Given the description of an element on the screen output the (x, y) to click on. 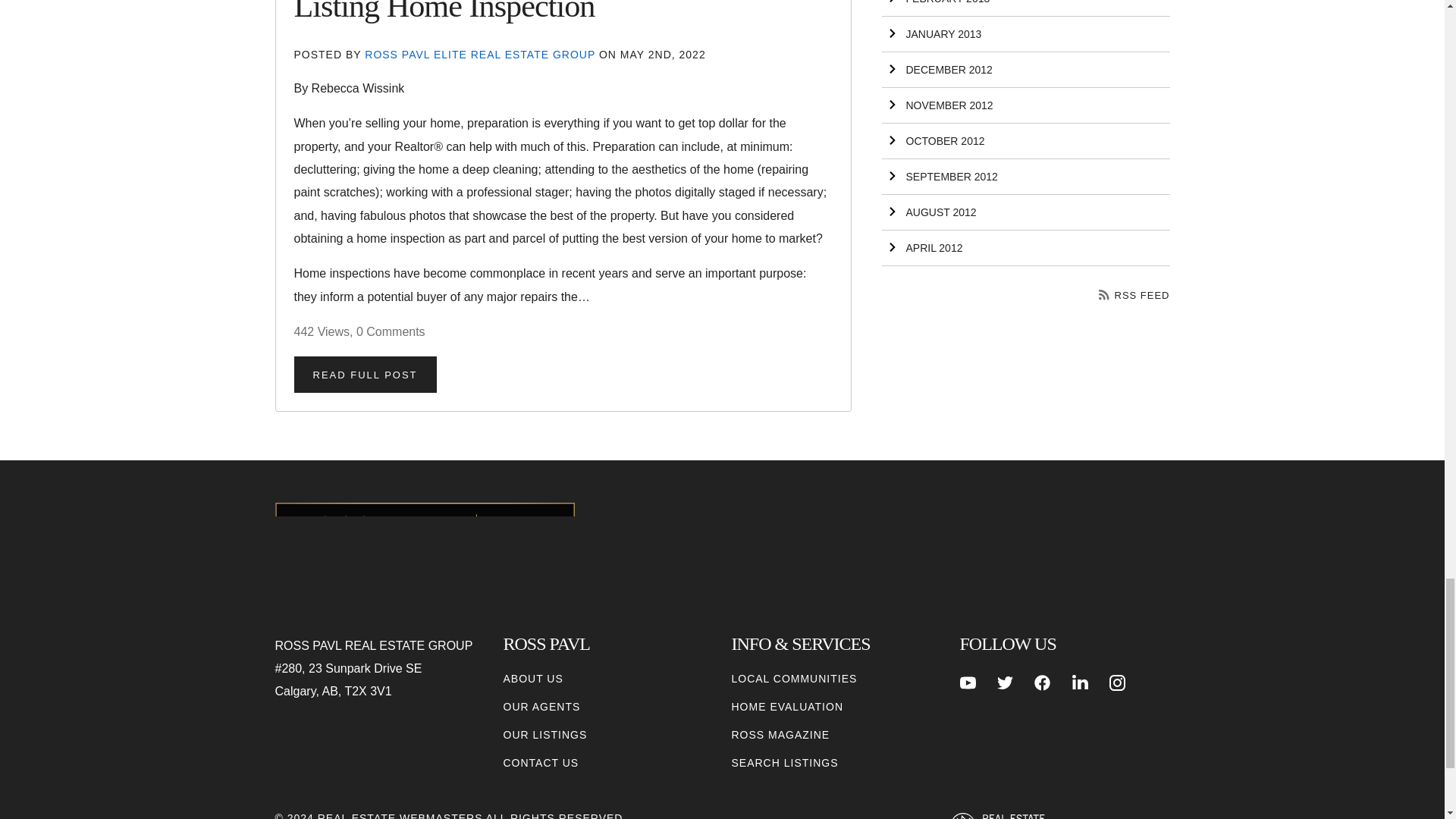
RSS FEED (1134, 295)
